Given the description of an element on the screen output the (x, y) to click on. 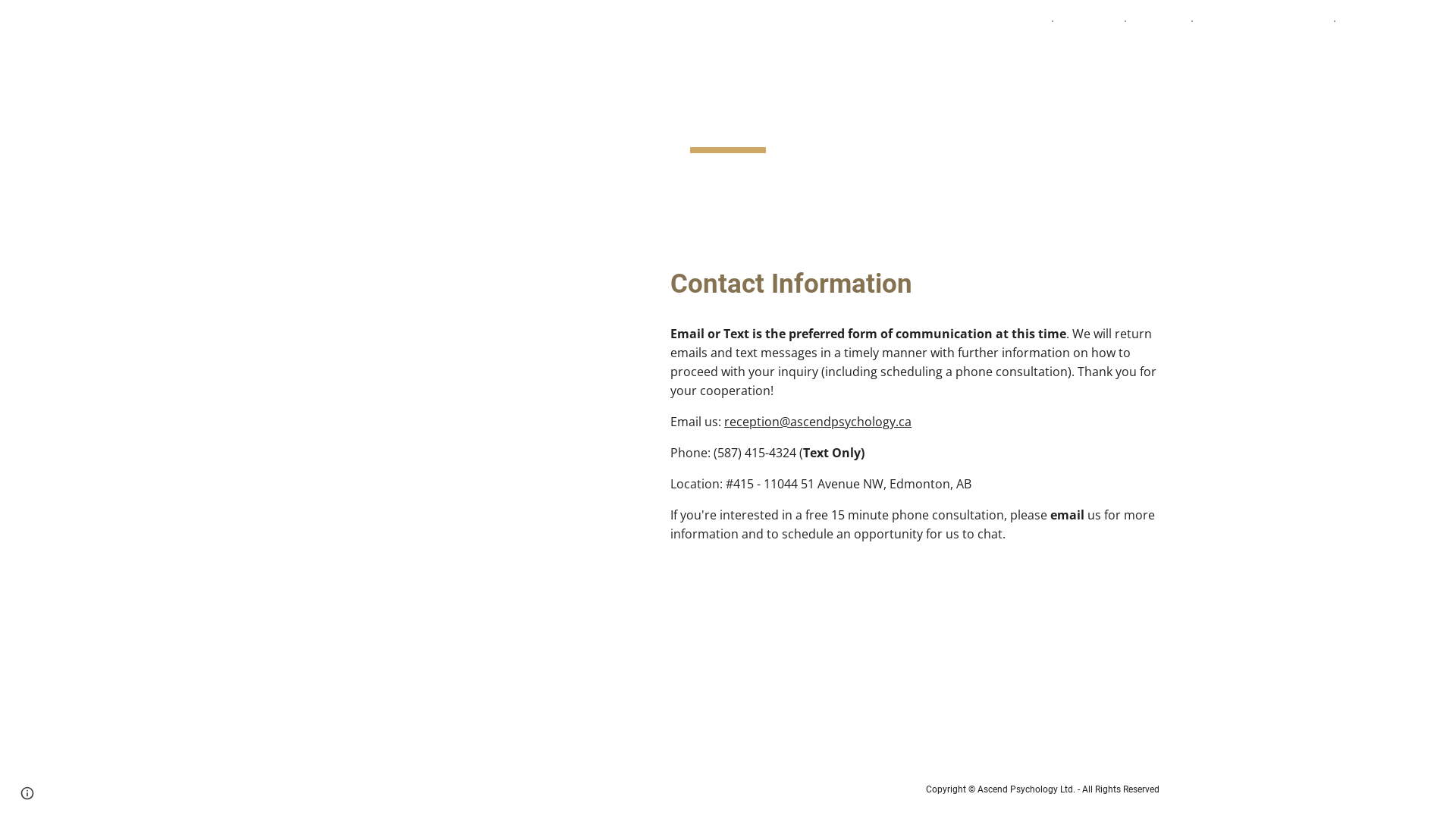
Contact Us Element type: text (1377, 20)
reception@ascendpsychology.ca Element type: text (817, 421)
About Us Element type: text (1088, 20)
Appointments & Fees Element type: text (1262, 20)
Home Element type: text (1024, 20)
Services Element type: text (1158, 20)
